Given the description of an element on the screen output the (x, y) to click on. 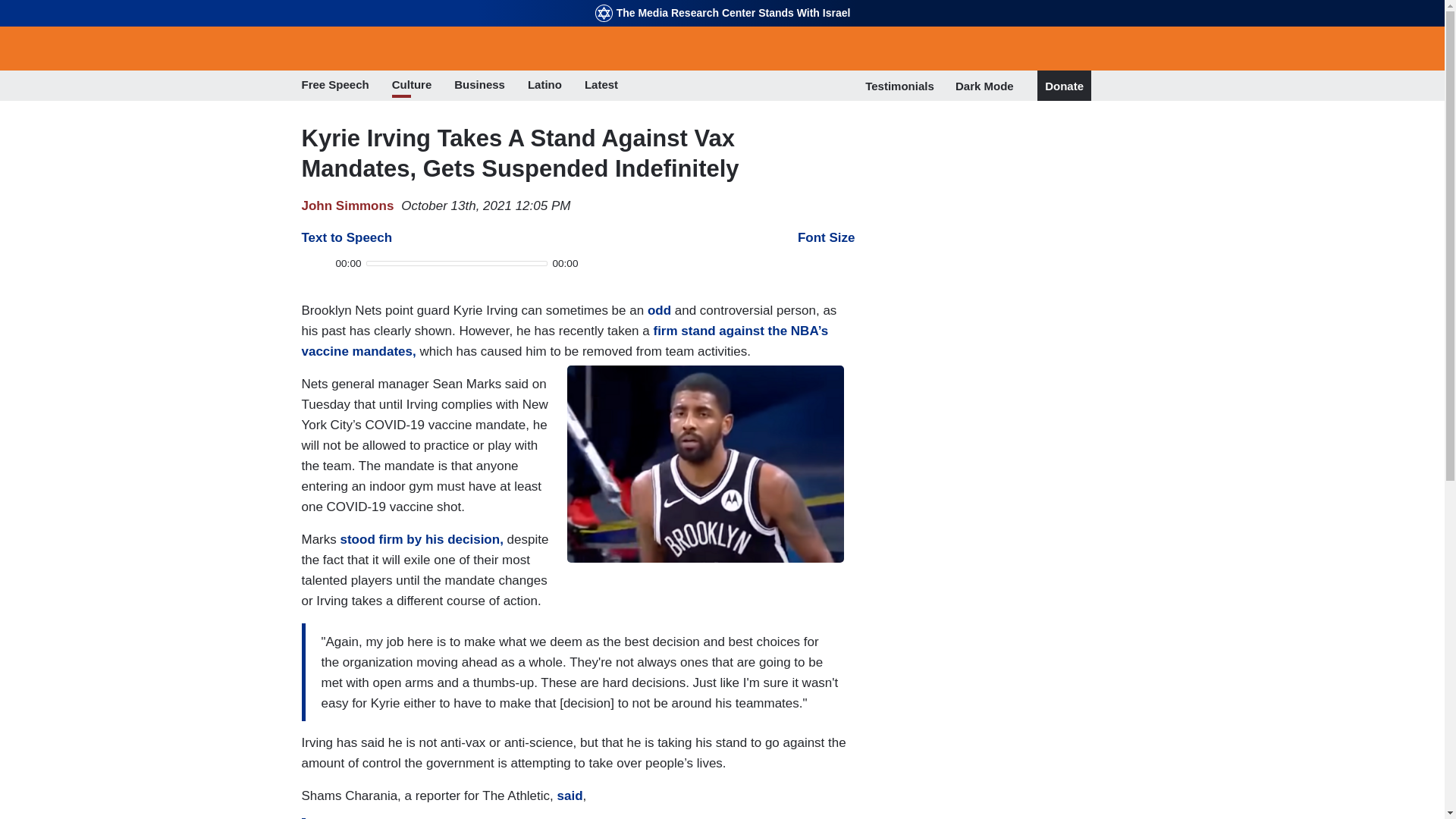
Dark Mode (984, 85)
Latest (601, 85)
Business (479, 85)
Testimonials (899, 85)
Culture (411, 85)
Donate (1064, 86)
Free Speech (335, 85)
Skip to main content (721, 1)
Latino (544, 85)
